Given the description of an element on the screen output the (x, y) to click on. 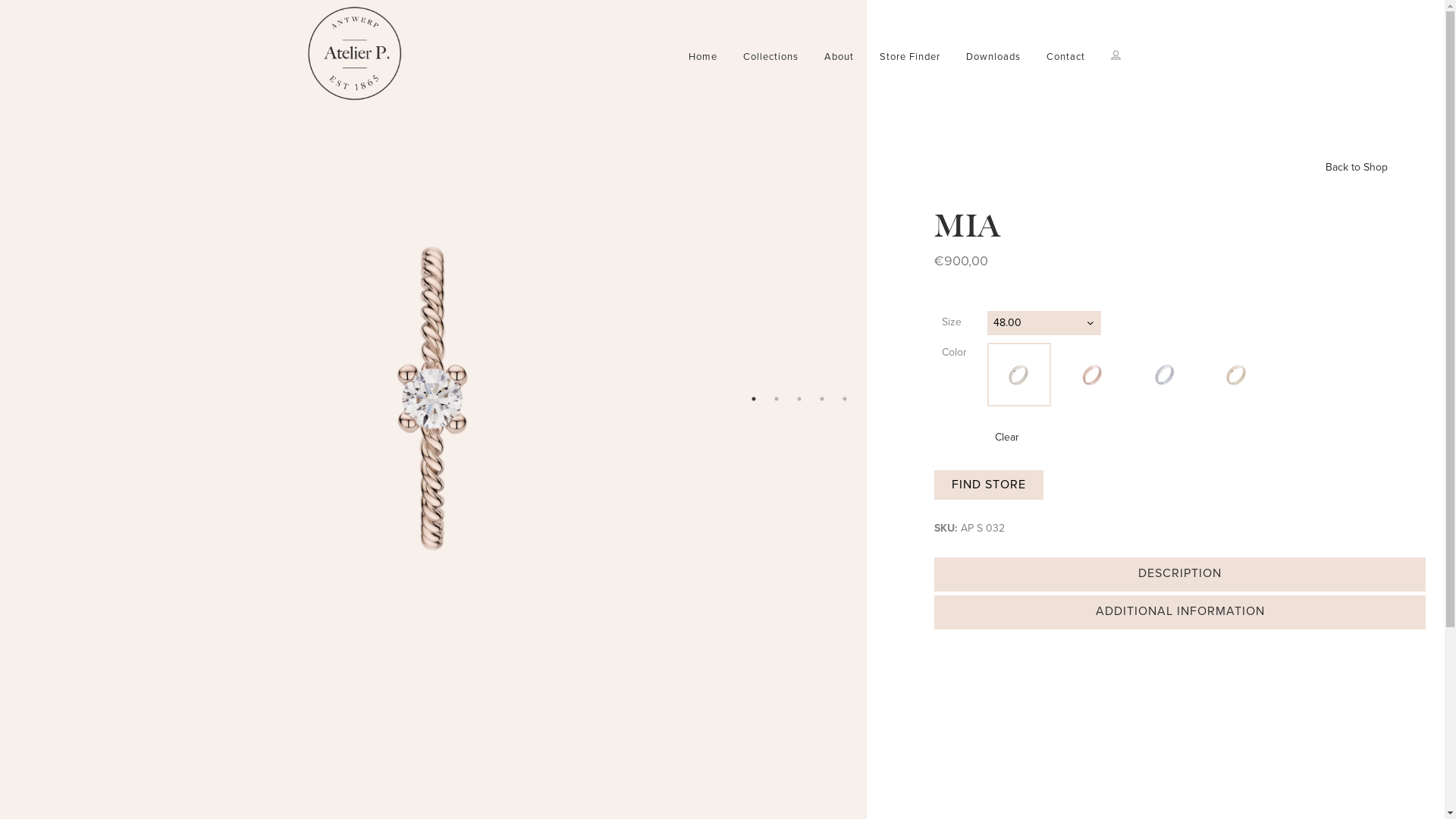
Downloads Element type: text (992, 56)
3 Element type: text (798, 398)
Contact Element type: text (1064, 56)
Clear Element type: text (1006, 436)
1 Element type: text (753, 398)
FIND STORE Element type: text (988, 484)
2 Element type: text (776, 398)
Store Finder Element type: text (909, 56)
Home Element type: text (701, 56)
5 Element type: text (844, 398)
About Element type: text (838, 56)
4 Element type: text (821, 398)
Back to Shop Element type: text (1356, 167)
Collections Element type: text (769, 56)
